Given the description of an element on the screen output the (x, y) to click on. 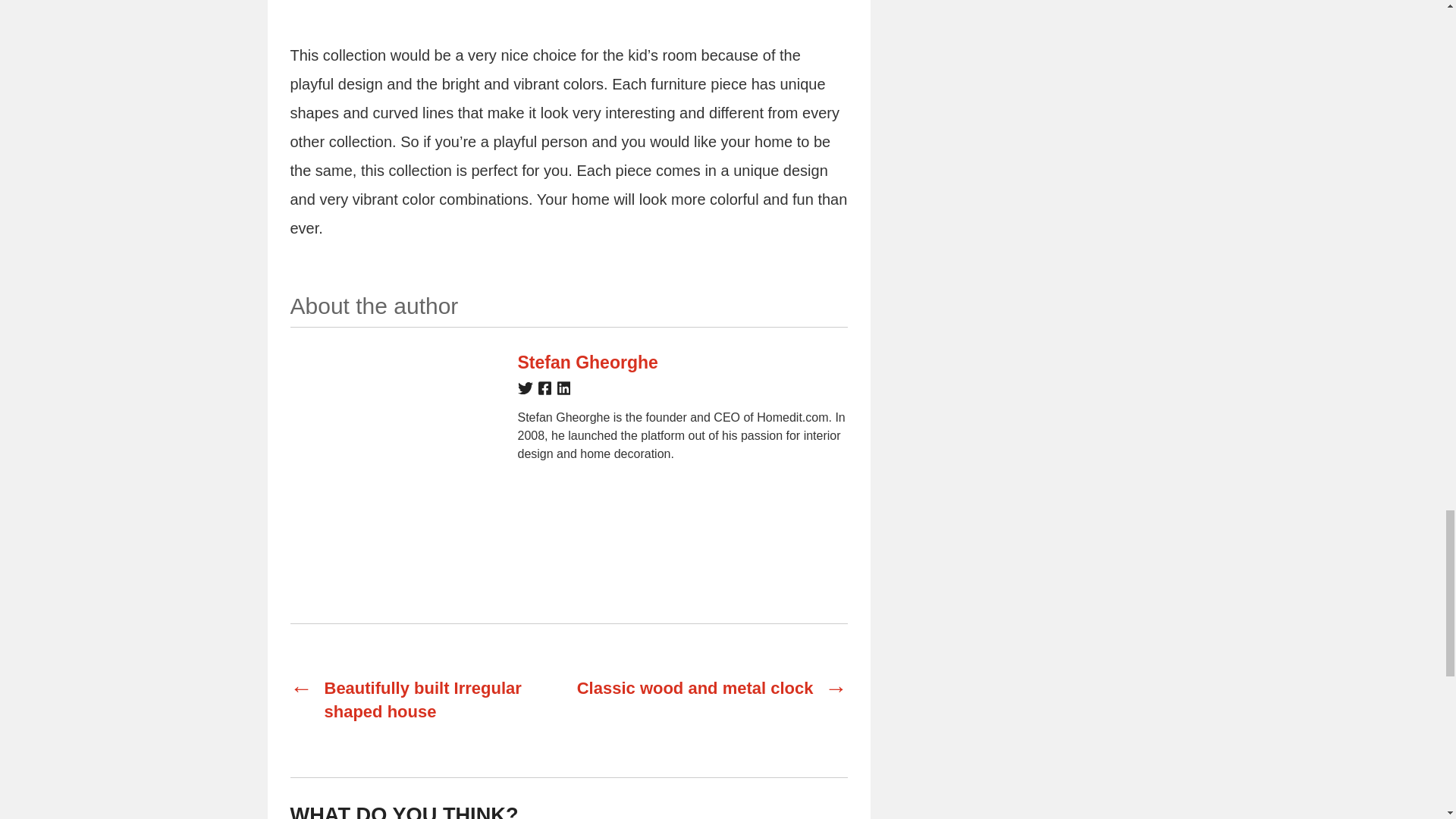
Unique Curved Pieces of Furniture6 (568, 12)
Posts by Stefan Gheorghe (587, 362)
Stefan Gheorghe (587, 362)
